Given the description of an element on the screen output the (x, y) to click on. 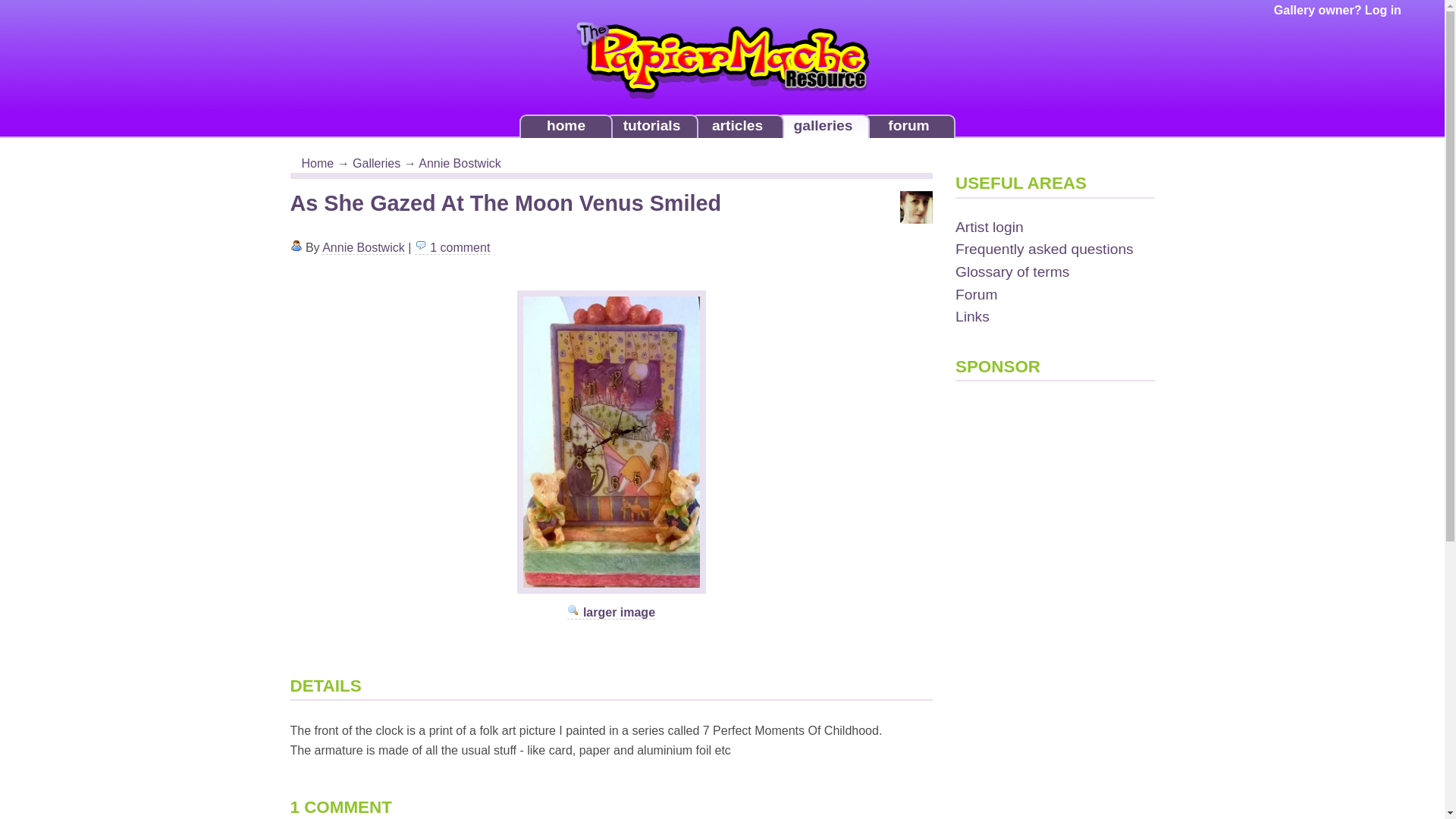
Gallery owner? Log in (1337, 10)
Annie Bostwick (362, 247)
galleries (822, 126)
1 comment (452, 247)
larger image (611, 612)
forum (908, 126)
tutorials (651, 126)
"As She Gazed At The Moon Venus Smiled" by Annie Bostwick (611, 612)
home (565, 126)
Links (972, 316)
Home (317, 163)
Forum (976, 294)
Artist login (989, 227)
Frequently asked questions (1044, 248)
Annie Bostwick (459, 163)
